Given the description of an element on the screen output the (x, y) to click on. 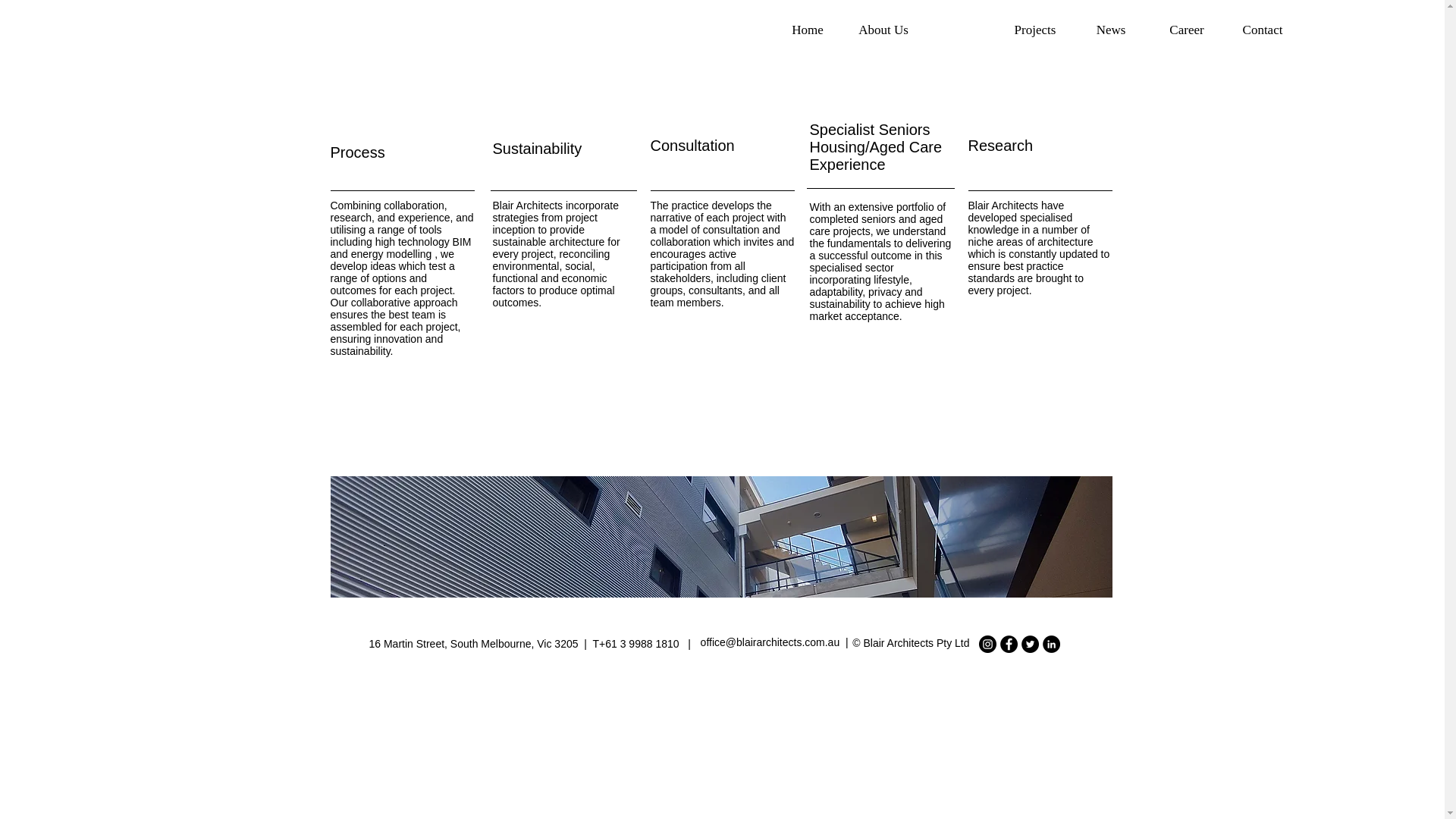
Projects (1035, 29)
Approach (959, 29)
Blair Architects Pty Ltd (916, 643)
Home (807, 29)
About Us (883, 29)
News (1110, 29)
Contact (1262, 29)
Career (1186, 29)
